Given the description of an element on the screen output the (x, y) to click on. 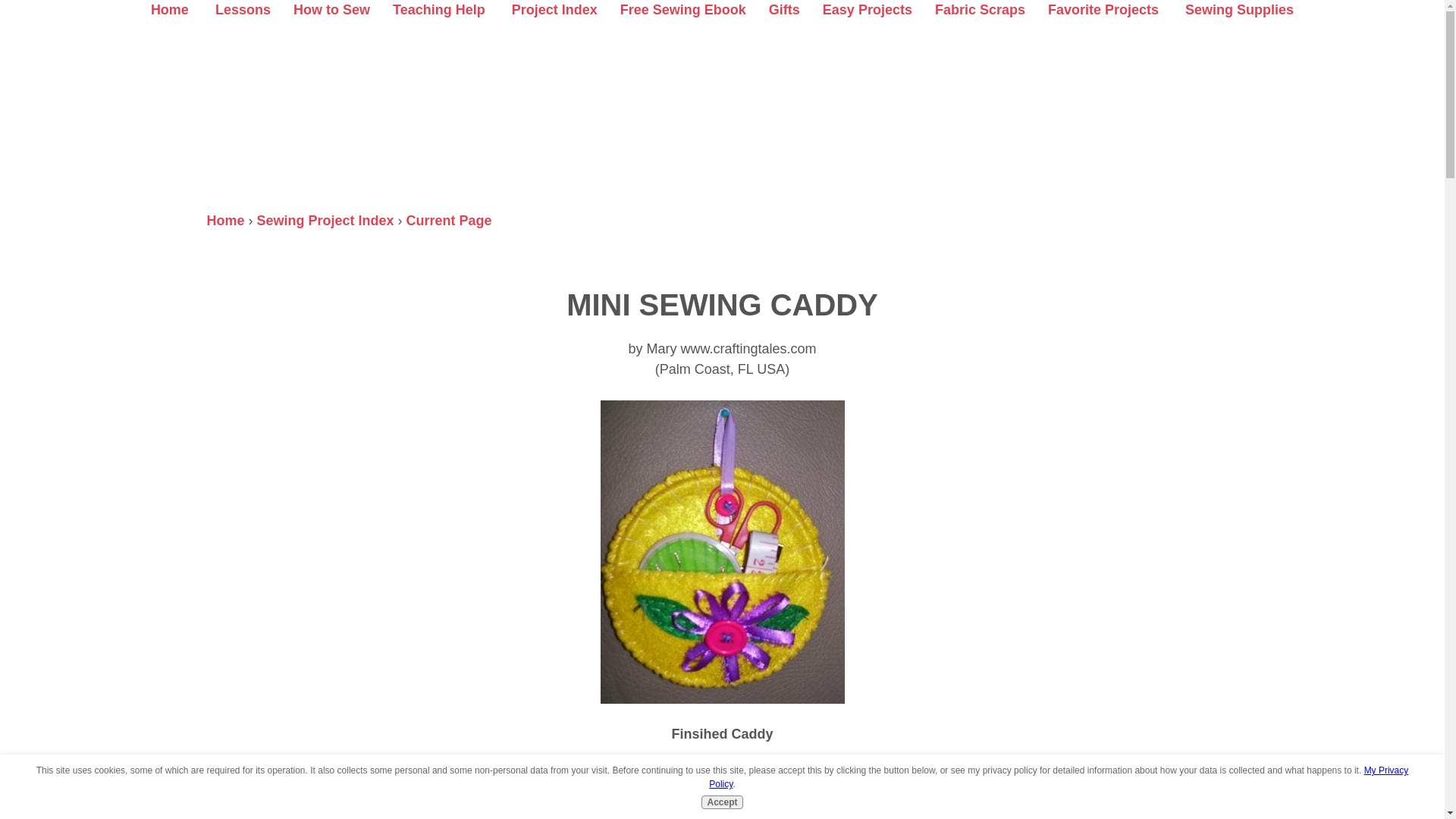
Current Page (449, 220)
Home (225, 220)
Scissor Placement (839, 800)
Sewing Supplies (1237, 9)
Lessons (242, 9)
Teaching Help (438, 9)
Project Index (554, 9)
Sewing Project Index (325, 220)
Lid Enclosed (761, 793)
Home (170, 9)
